Given the description of an element on the screen output the (x, y) to click on. 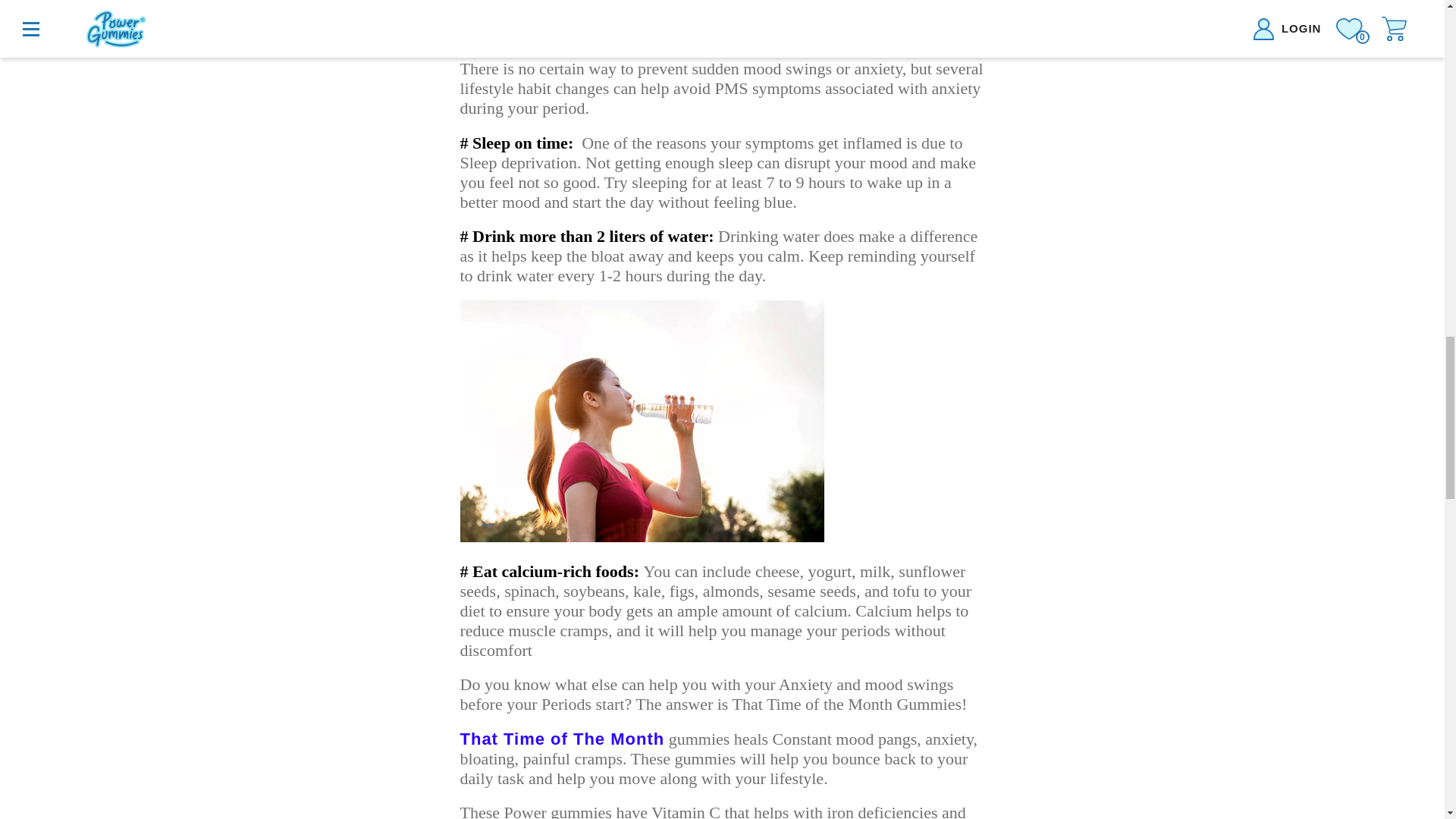
That Time of The Month - Powergummies (561, 738)
